Given the description of an element on the screen output the (x, y) to click on. 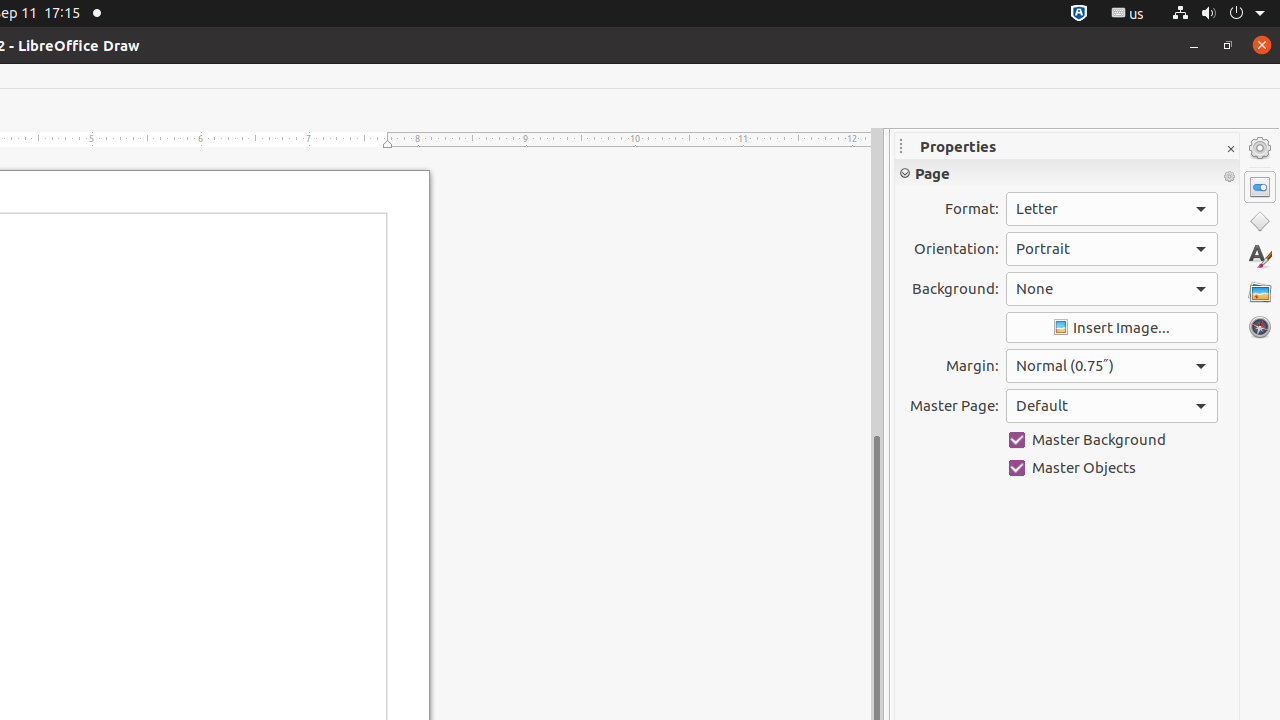
Master Objects Element type: check-box (1112, 468)
More Options Element type: push-button (1229, 177)
